Given the description of an element on the screen output the (x, y) to click on. 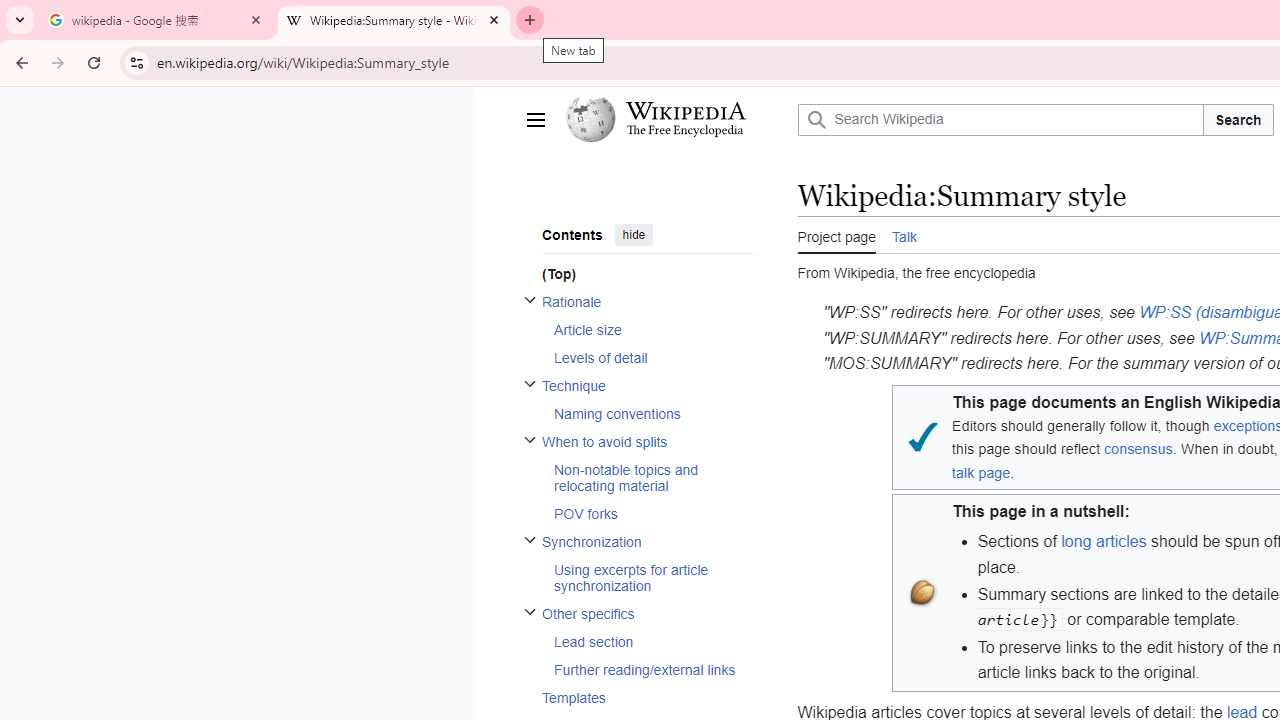
AutomationID: toc-Levels_of_detail (649, 357)
Toggle When to avoid splits subsection (529, 438)
Project page (836, 235)
Synchronization (649, 541)
long articles (1103, 541)
Toggle Synchronization subsection (529, 538)
POV forks (654, 512)
AutomationID: toc-Non-notable_topics_and_relocating_material (649, 477)
AutomationID: toc-Templates (642, 697)
Rationale (649, 301)
Wikipedia The Free Encyclopedia (676, 119)
Other specifics (649, 613)
